Given the description of an element on the screen output the (x, y) to click on. 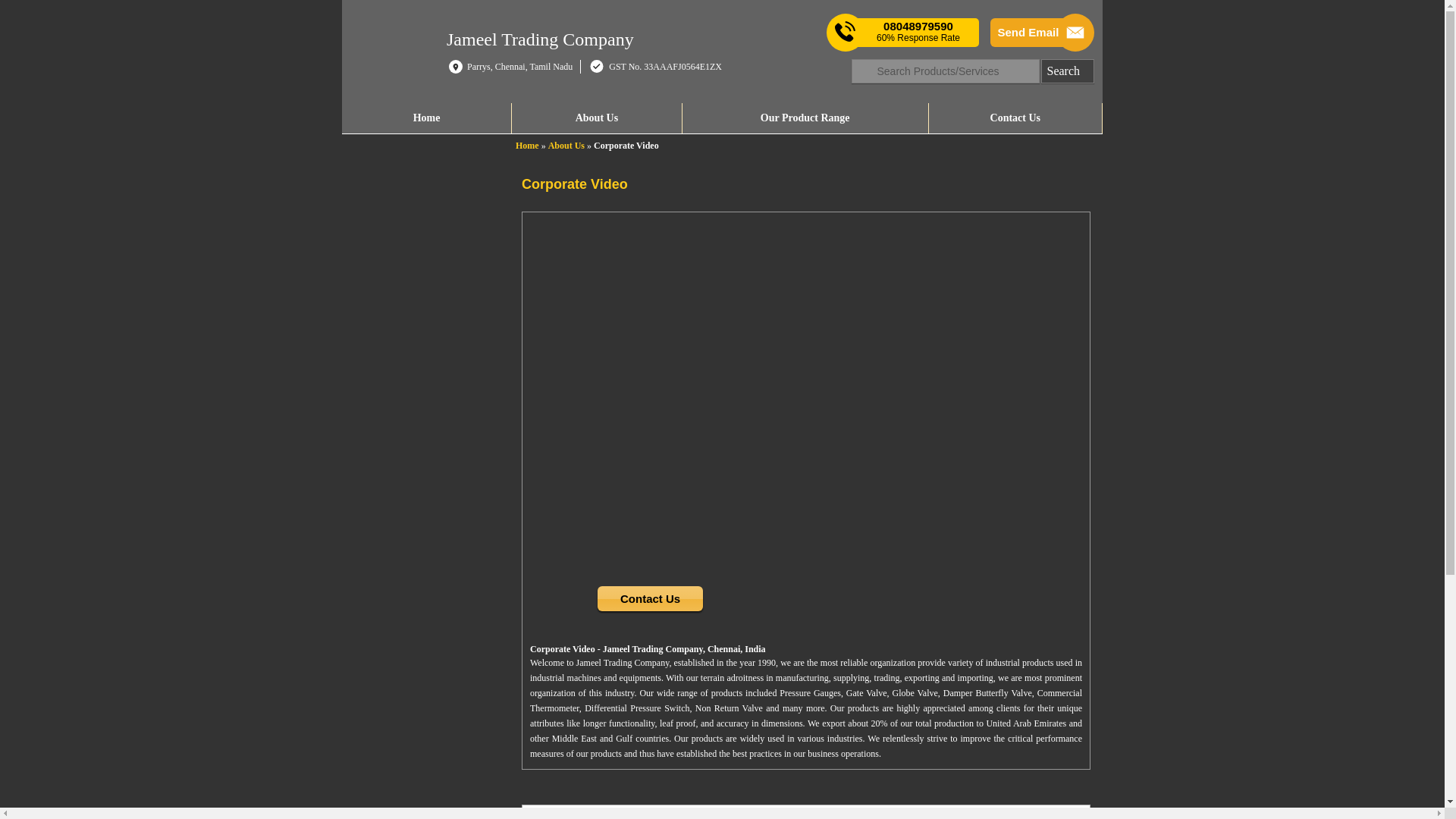
Home (526, 145)
Jameel Trading Company (539, 38)
Our Product Range (805, 118)
About Us (596, 118)
Send SMS Free (917, 32)
Home (426, 118)
Contact Us (1015, 118)
About Us (566, 145)
